Given the description of an element on the screen output the (x, y) to click on. 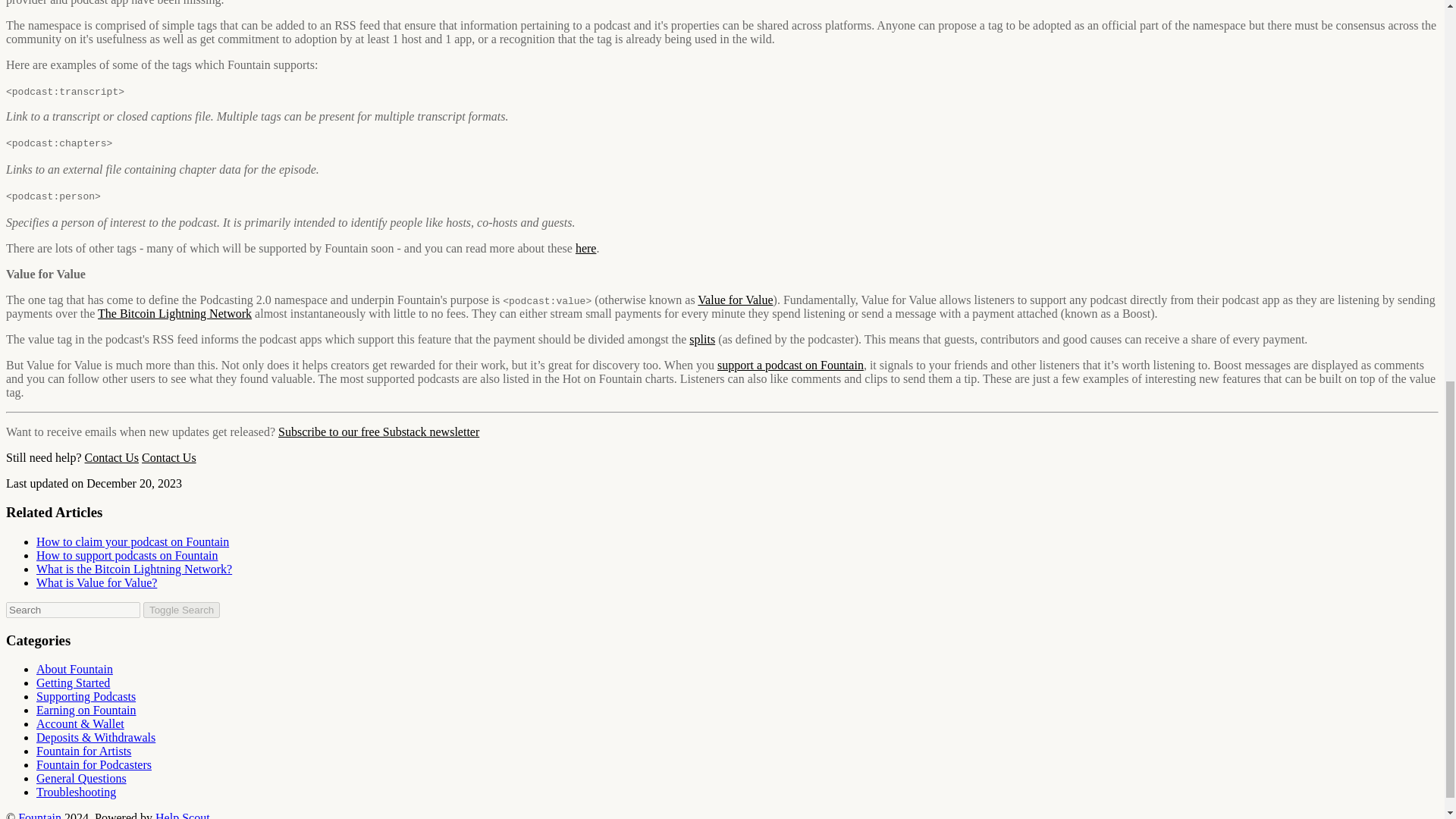
How to support podcasts on Fountain (127, 554)
splits (701, 338)
Fountain for Podcasters (93, 764)
What is the Bitcoin Lightning Network? (133, 568)
Getting Started (73, 682)
Earning on Fountain (86, 709)
Troubleshooting (76, 791)
About Fountain (74, 668)
here (585, 247)
The Bitcoin Lightning Network (174, 313)
support a podcast on Fountain (790, 364)
search-query (72, 609)
Value for Value (735, 299)
Subscribe to our free Substack newsletter (378, 431)
What is Value for Value? (96, 582)
